Given the description of an element on the screen output the (x, y) to click on. 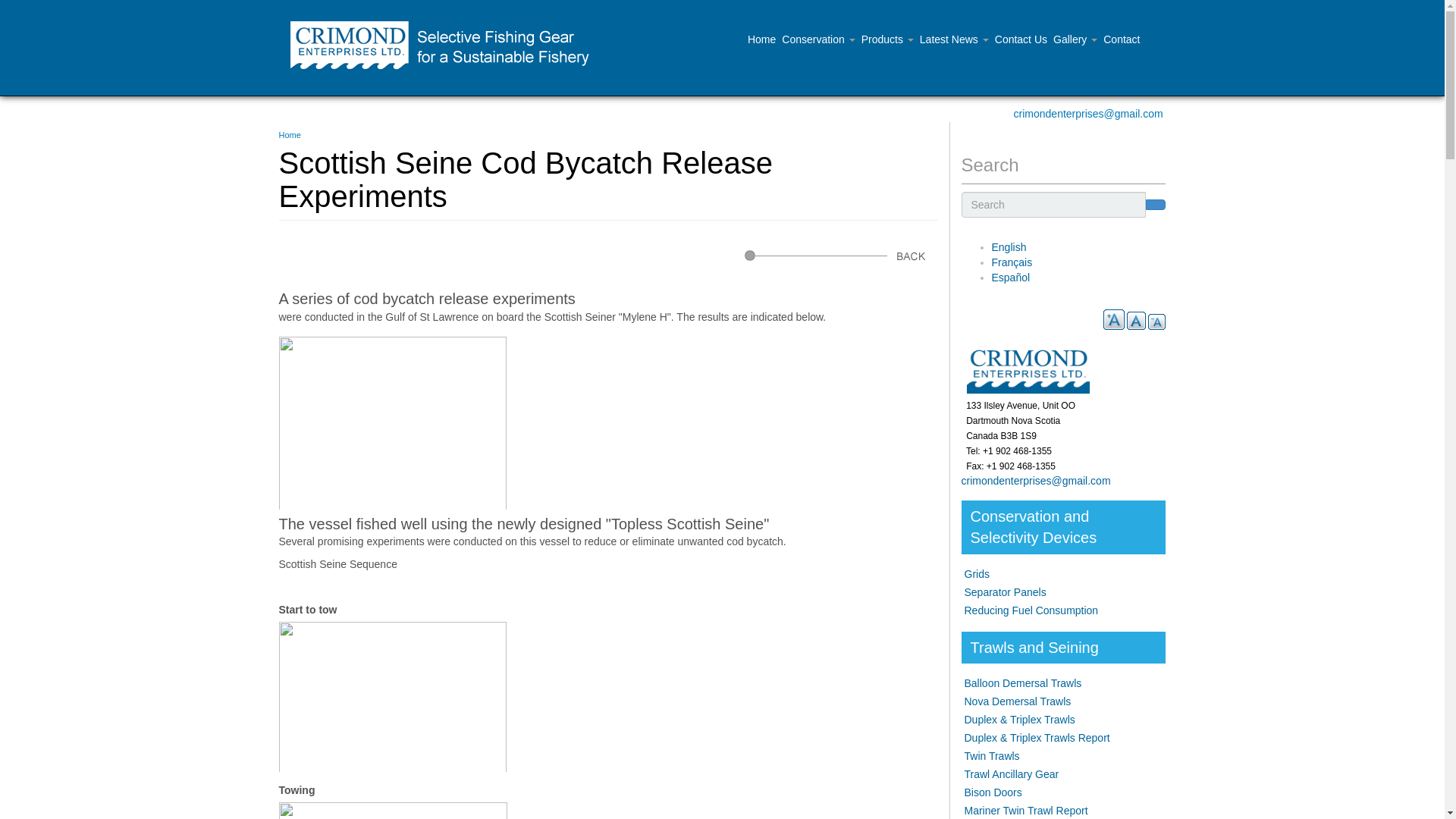
Showcase your work. (817, 39)
Conservation (817, 39)
Contact (1121, 39)
Home (445, 47)
Latest News (954, 39)
Products (888, 39)
Get in touch with Us! (1020, 39)
Gallery (1074, 39)
Home (290, 134)
